Given the description of an element on the screen output the (x, y) to click on. 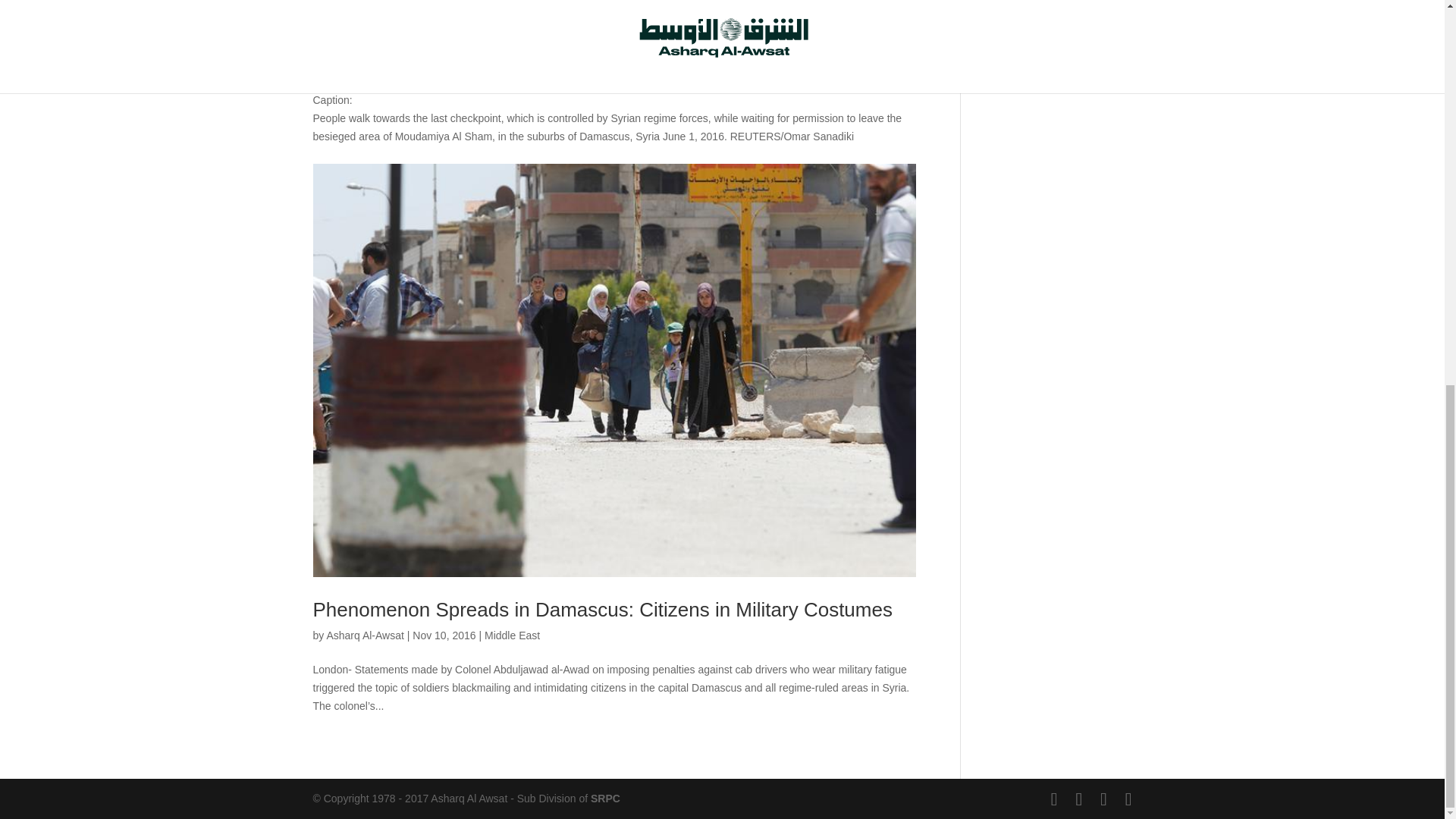
Asharq Al-Awsat (364, 635)
SRPC (605, 798)
Middle East (512, 635)
Posts by Asharq Al-Awsat (364, 635)
